Given the description of an element on the screen output the (x, y) to click on. 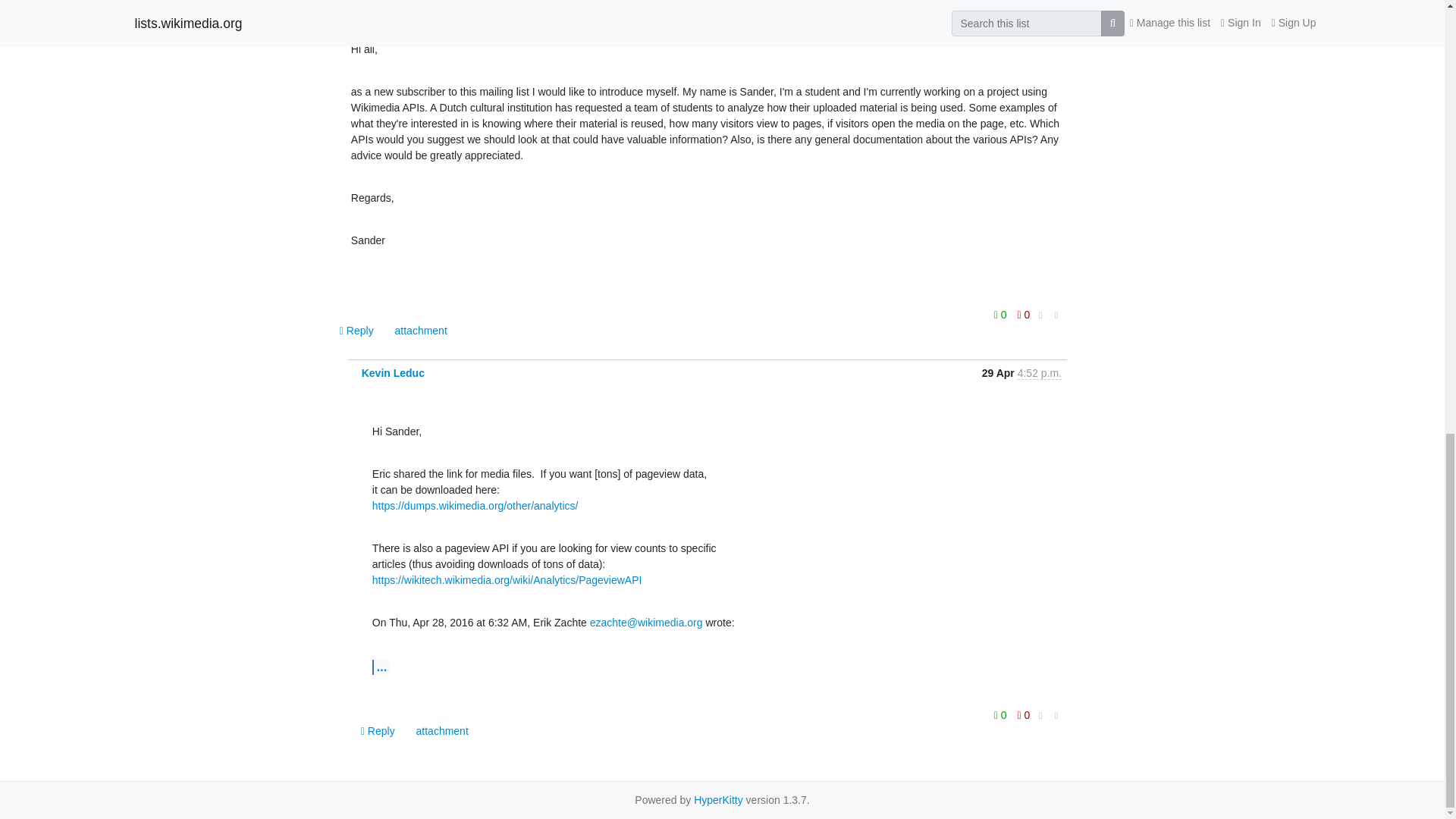
You must be logged-in to vote. (1023, 314)
See the profile for Kevin Leduc (393, 372)
You must be logged-in to vote. (1001, 314)
Sign in to reply online (357, 329)
